Given the description of an element on the screen output the (x, y) to click on. 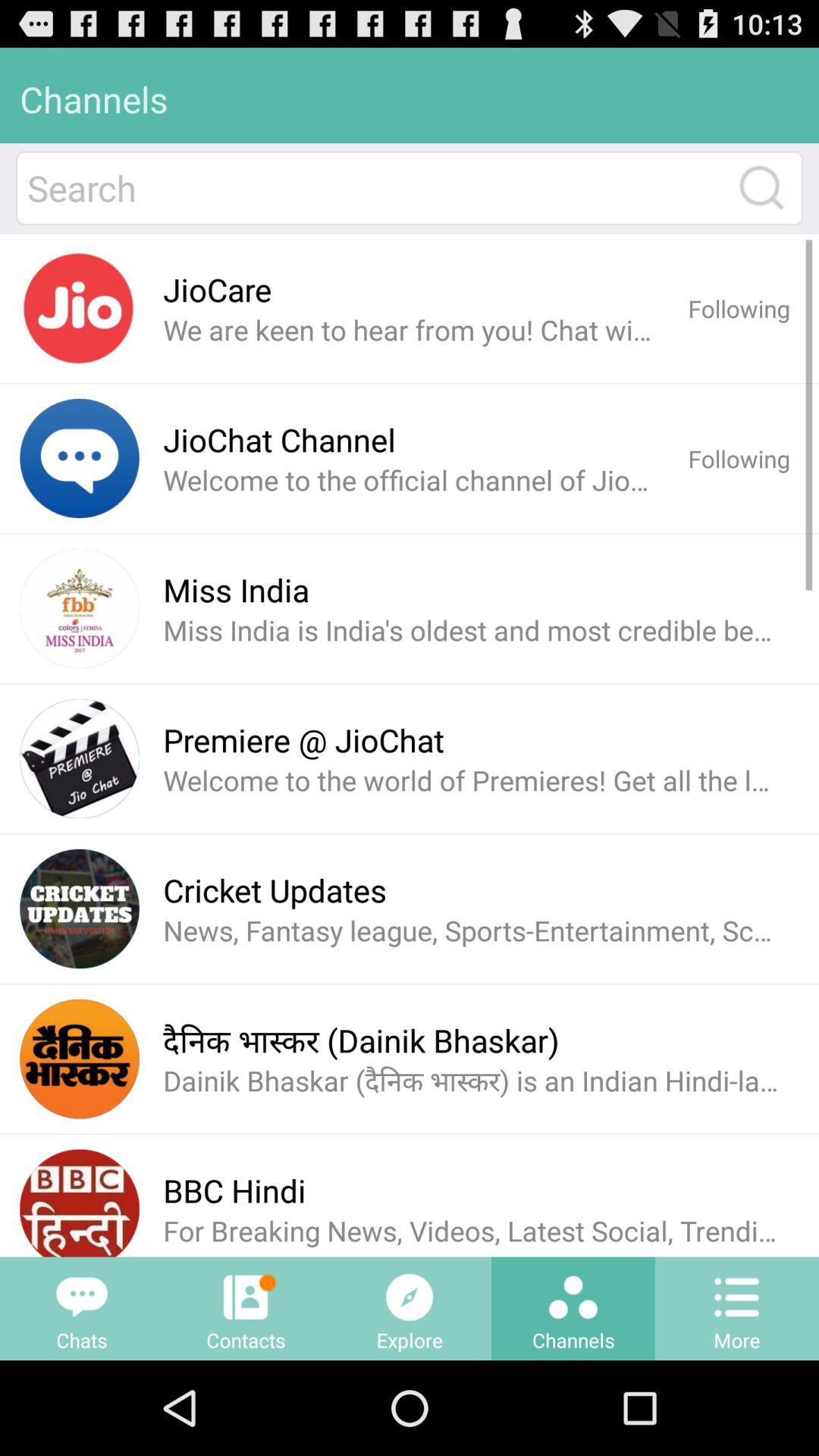
enter search (761, 187)
